Given the description of an element on the screen output the (x, y) to click on. 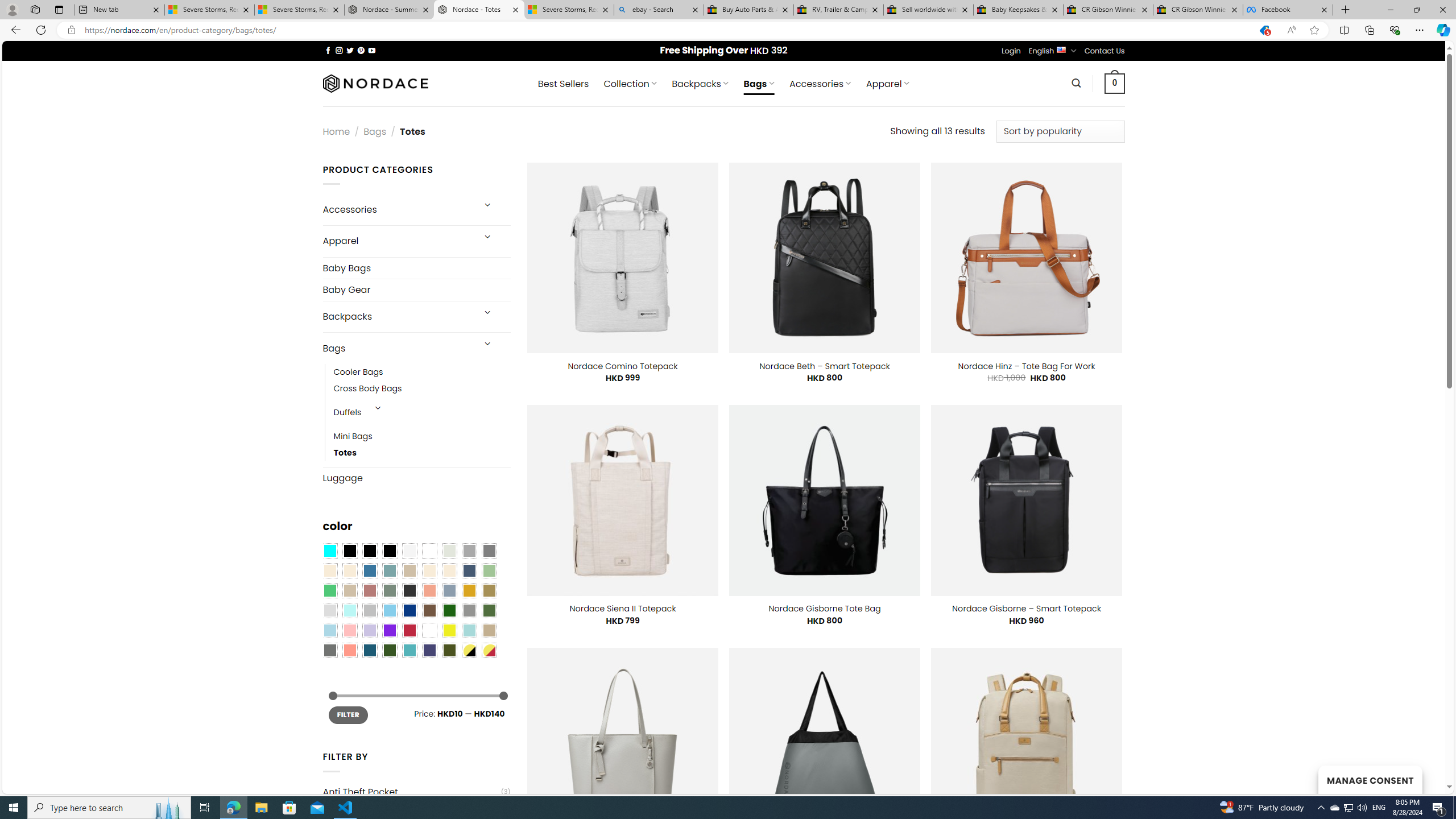
Login (1010, 50)
Sell worldwide with eBay (928, 9)
Bags (397, 348)
Cooler Bags (357, 371)
Blue (369, 570)
Login (1010, 50)
Kelp (488, 590)
Mini Bags (352, 436)
